Given the description of an element on the screen output the (x, y) to click on. 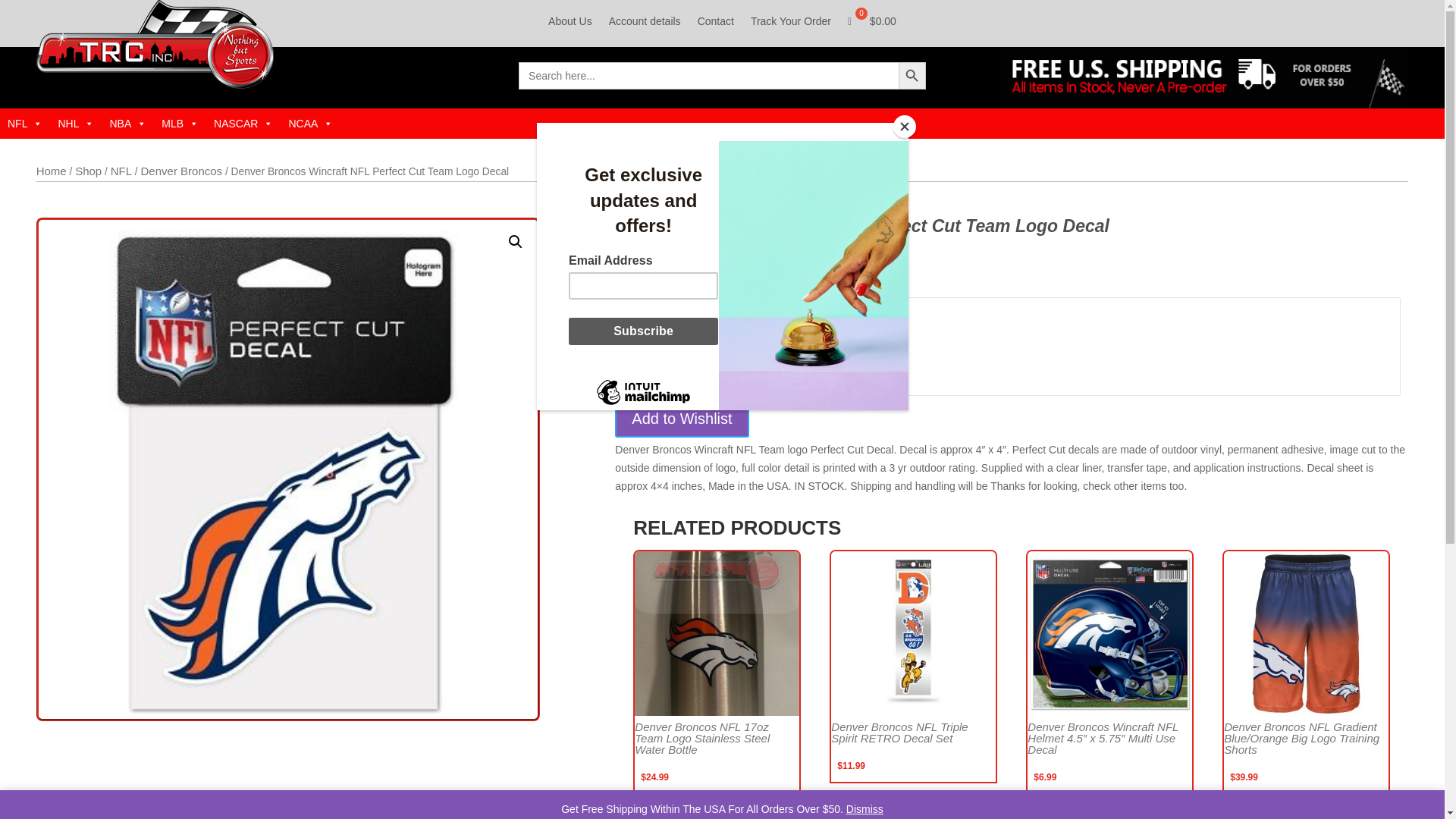
Search Button (912, 75)
Contact (715, 24)
TRC-Logo (154, 44)
Account details (644, 24)
1 (661, 355)
Track Your Order (791, 24)
About Us (570, 24)
NFL (24, 123)
